Given the description of an element on the screen output the (x, y) to click on. 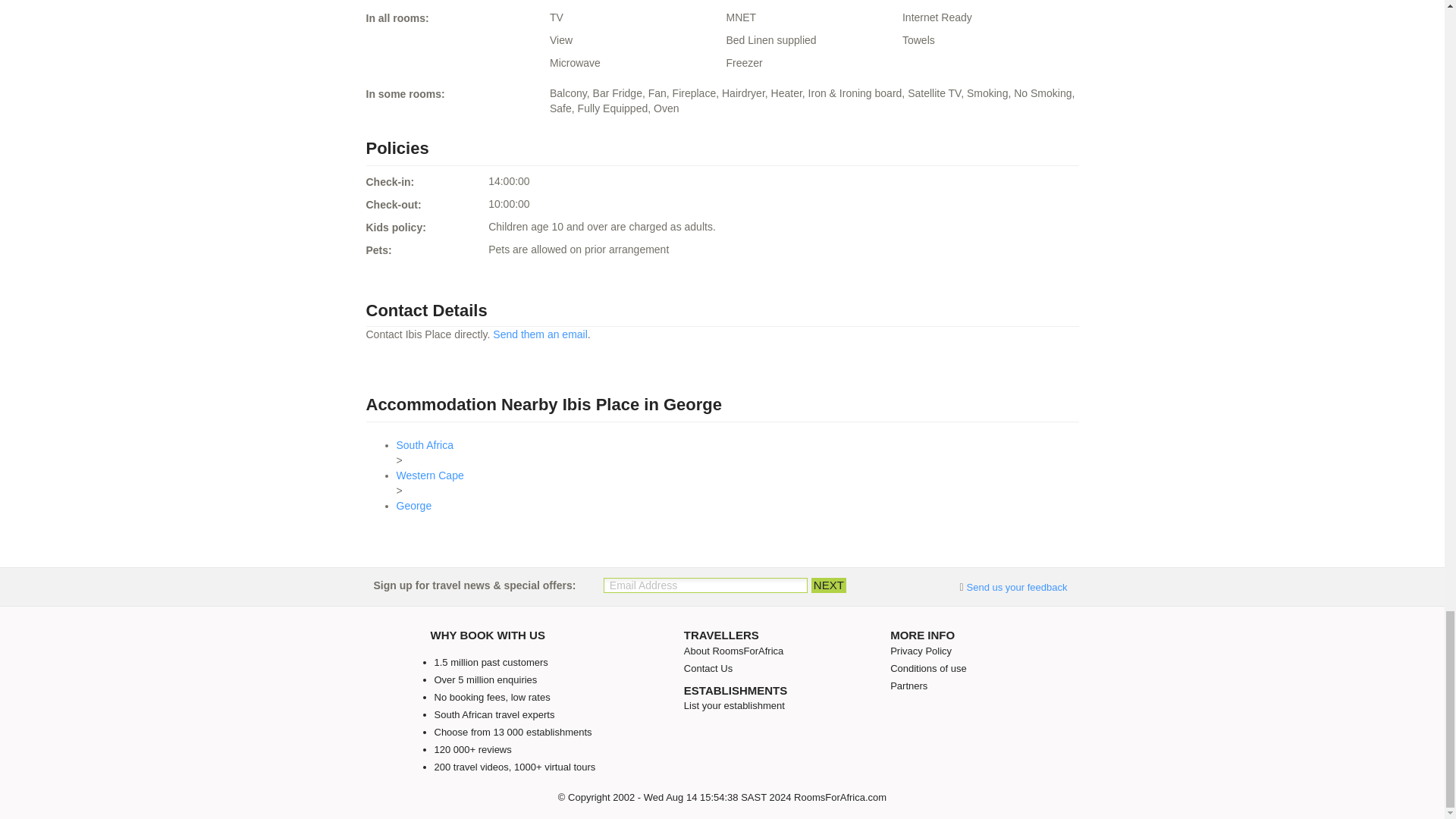
Email Address (706, 585)
Next (827, 585)
Email Address (706, 585)
